Given the description of an element on the screen output the (x, y) to click on. 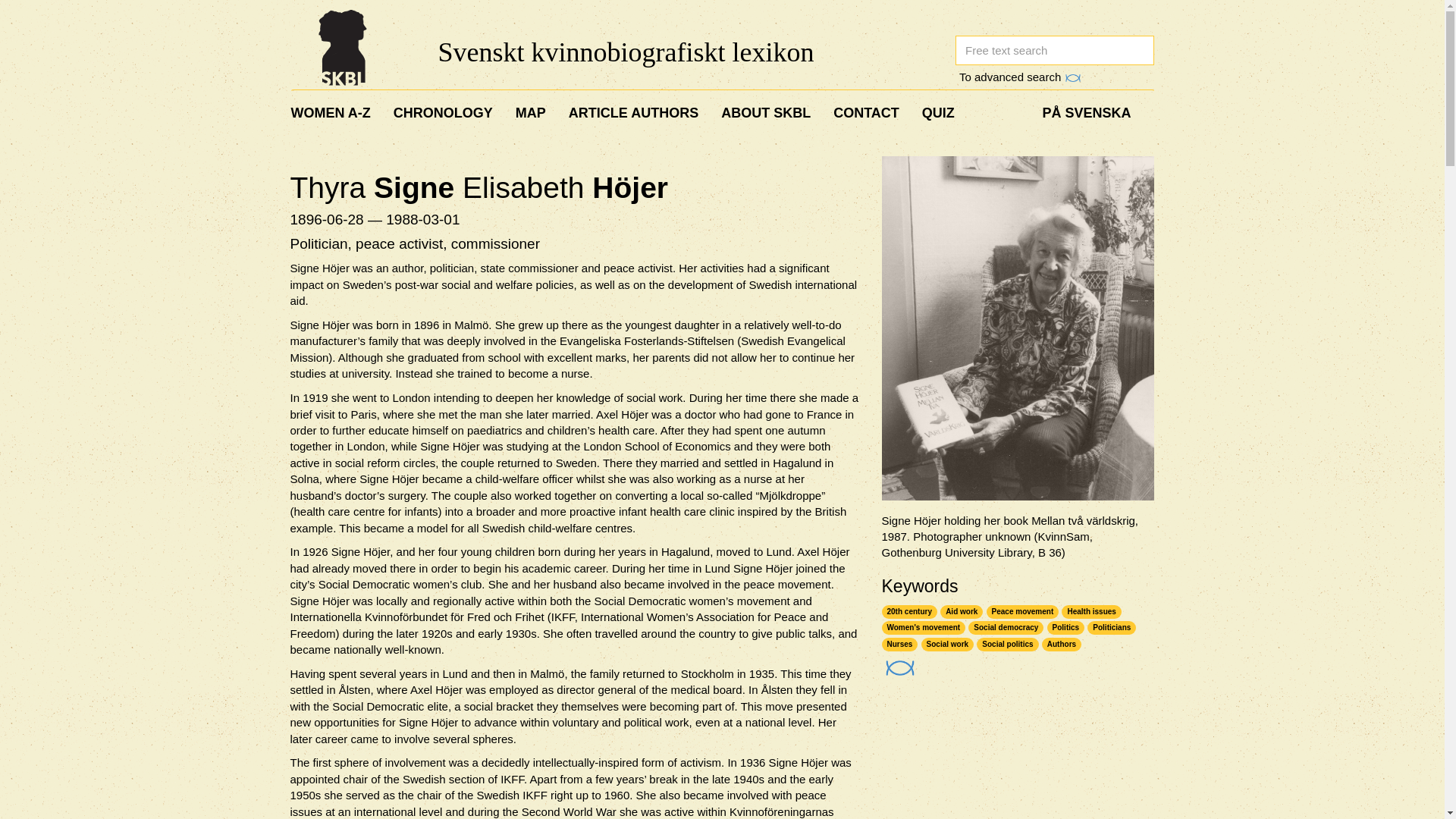
Open article in Karp (897, 662)
20th century (908, 612)
Social work (947, 644)
Social politics (1007, 644)
CHRONOLOGY (442, 112)
Women's movement (922, 627)
Nurses (898, 644)
MAP (530, 112)
Aid work (961, 612)
WOMEN A-Z (336, 112)
QUIZ (938, 112)
Politics (1065, 627)
Politicians (1111, 627)
Peace movement (1023, 612)
ABOUT SKBL (766, 112)
